Given the description of an element on the screen output the (x, y) to click on. 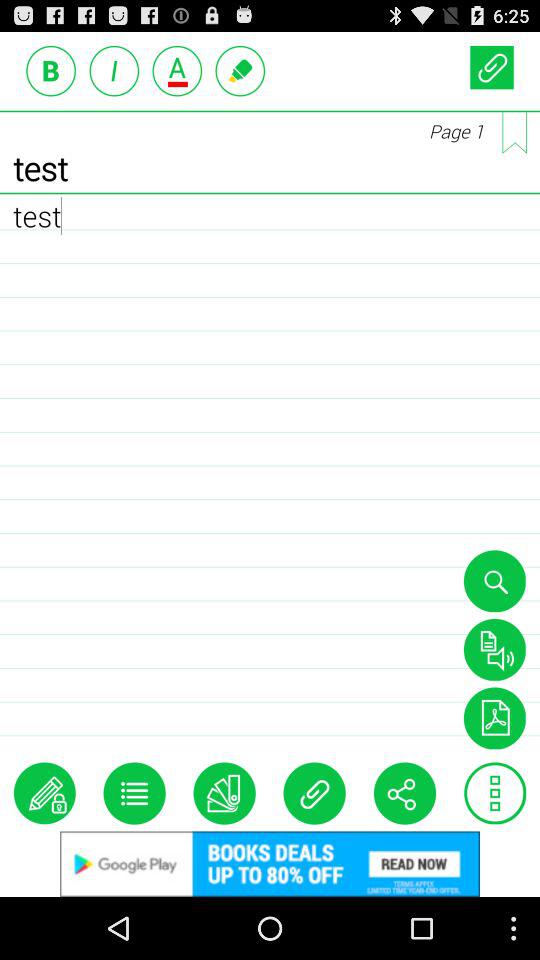
display list of notebooks (134, 793)
